Given the description of an element on the screen output the (x, y) to click on. 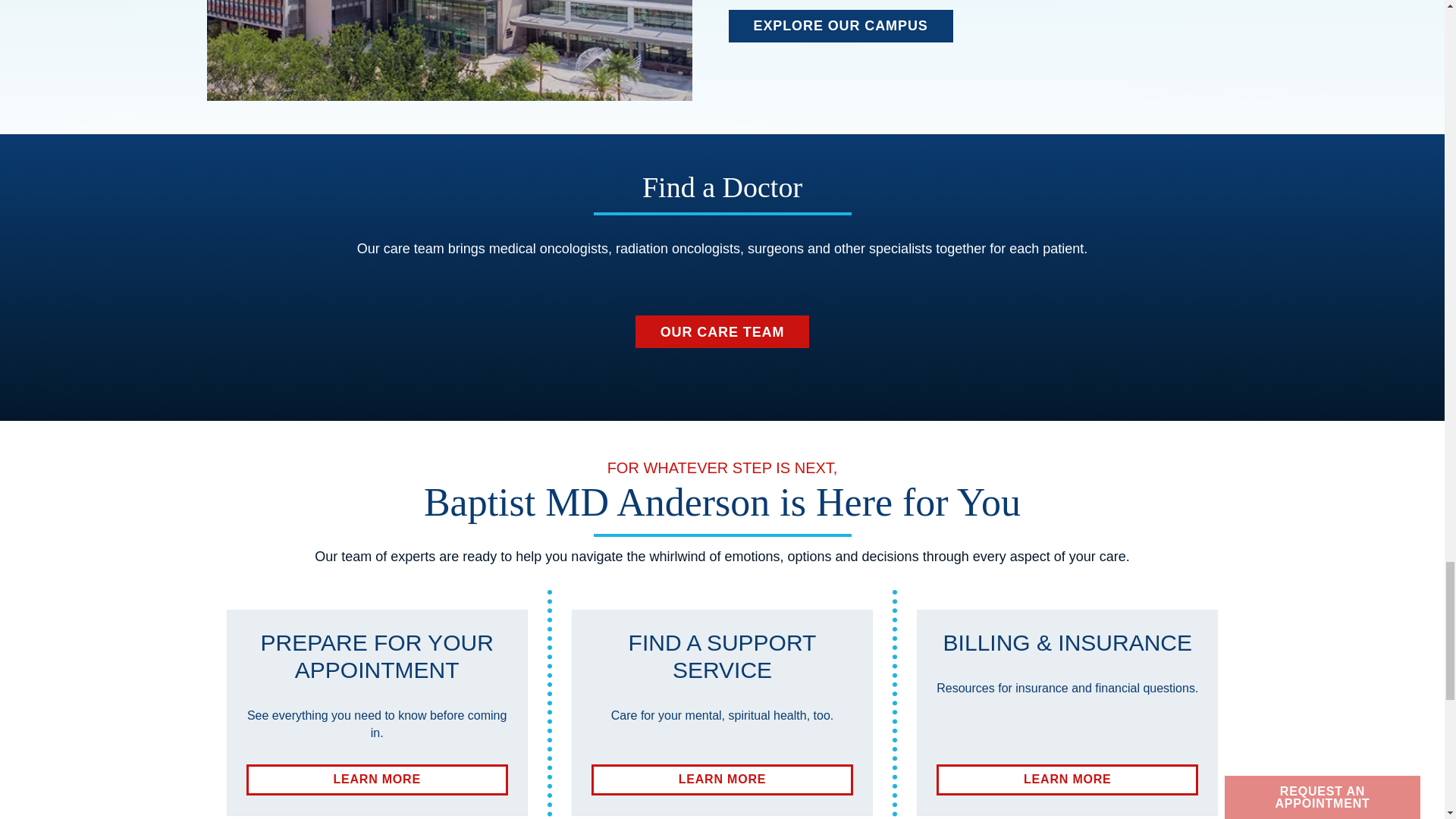
EXPLORE OUR CAMPUS (376, 779)
OUR CARE TEAM (840, 25)
